Given the description of an element on the screen output the (x, y) to click on. 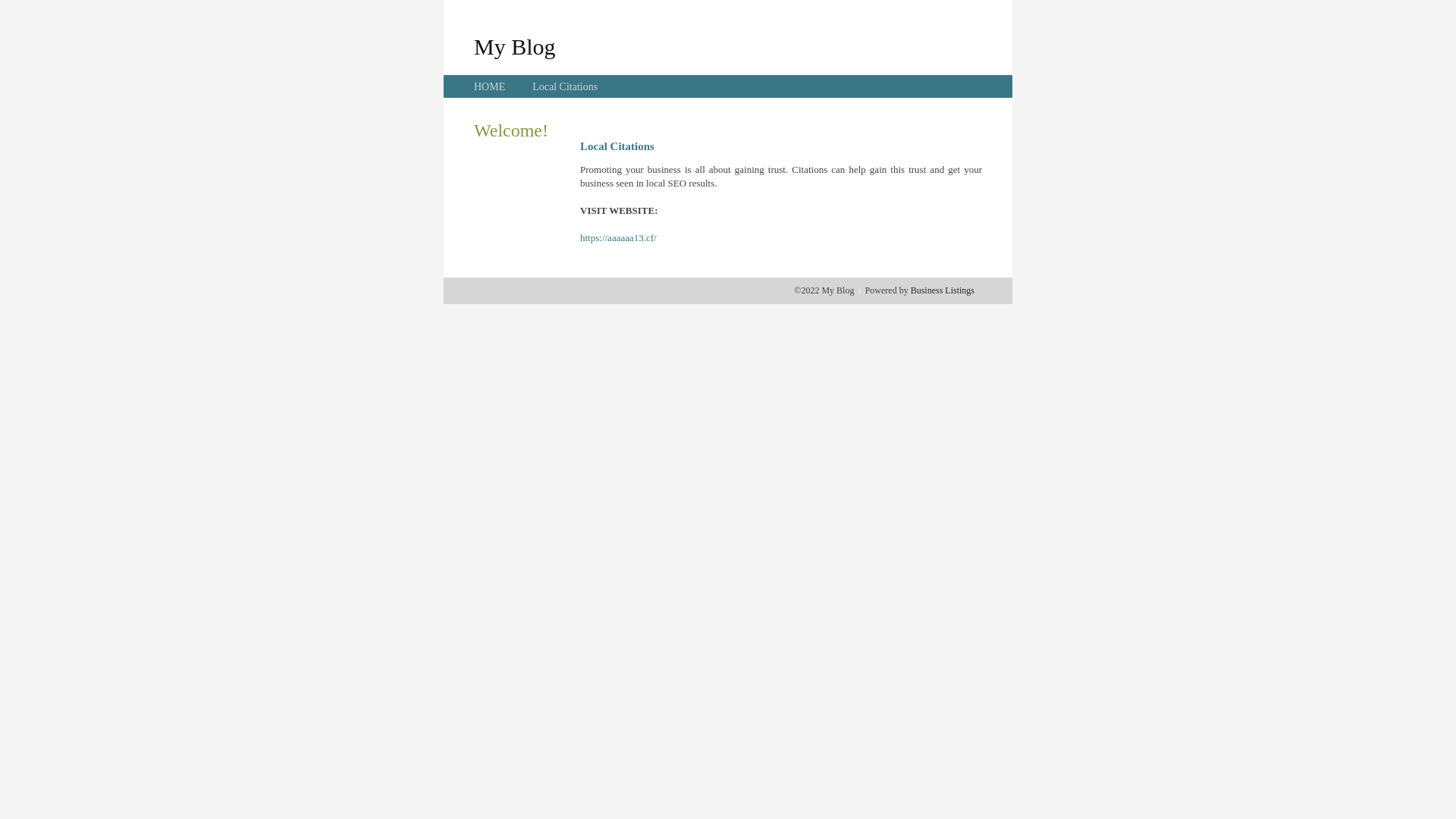
Business Listings Element type: text (942, 290)
https://aaaaaa13.cf/ Element type: text (618, 237)
HOME Element type: text (489, 86)
Local Citations Element type: text (564, 86)
My Blog Element type: text (514, 46)
